Given the description of an element on the screen output the (x, y) to click on. 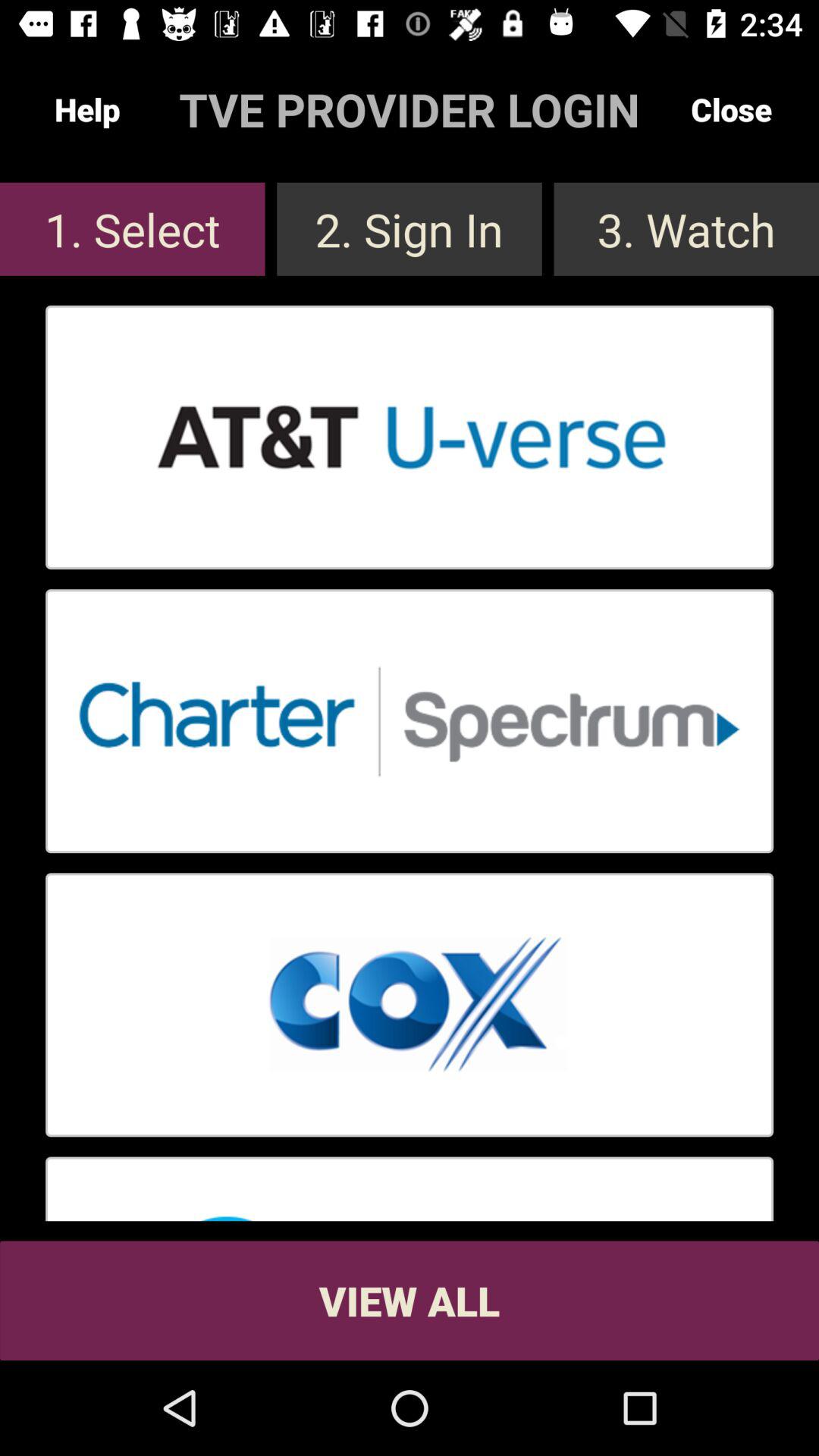
launch app next to tve provider login (87, 108)
